Given the description of an element on the screen output the (x, y) to click on. 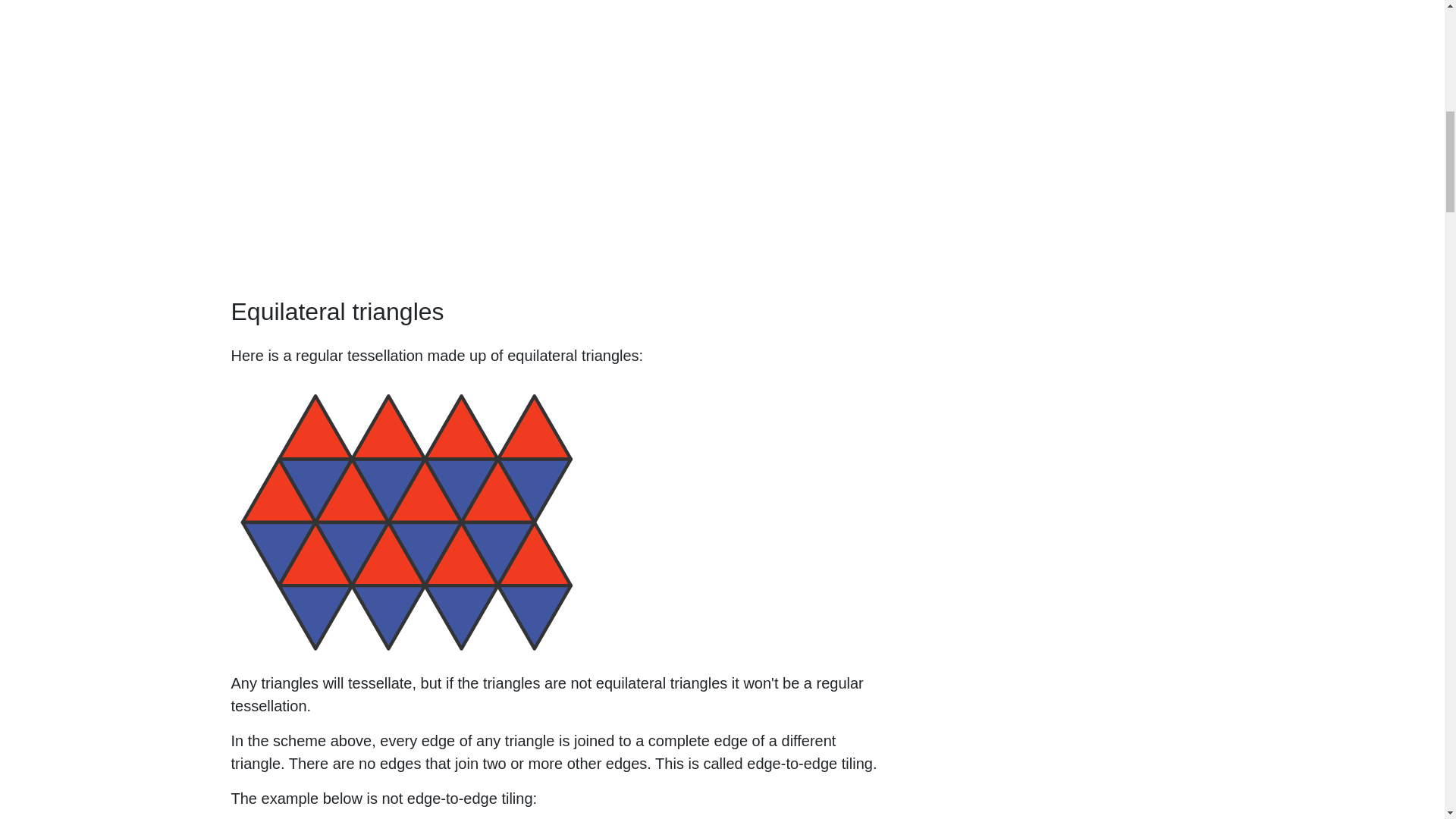
YouTube video player (442, 134)
